Given the description of an element on the screen output the (x, y) to click on. 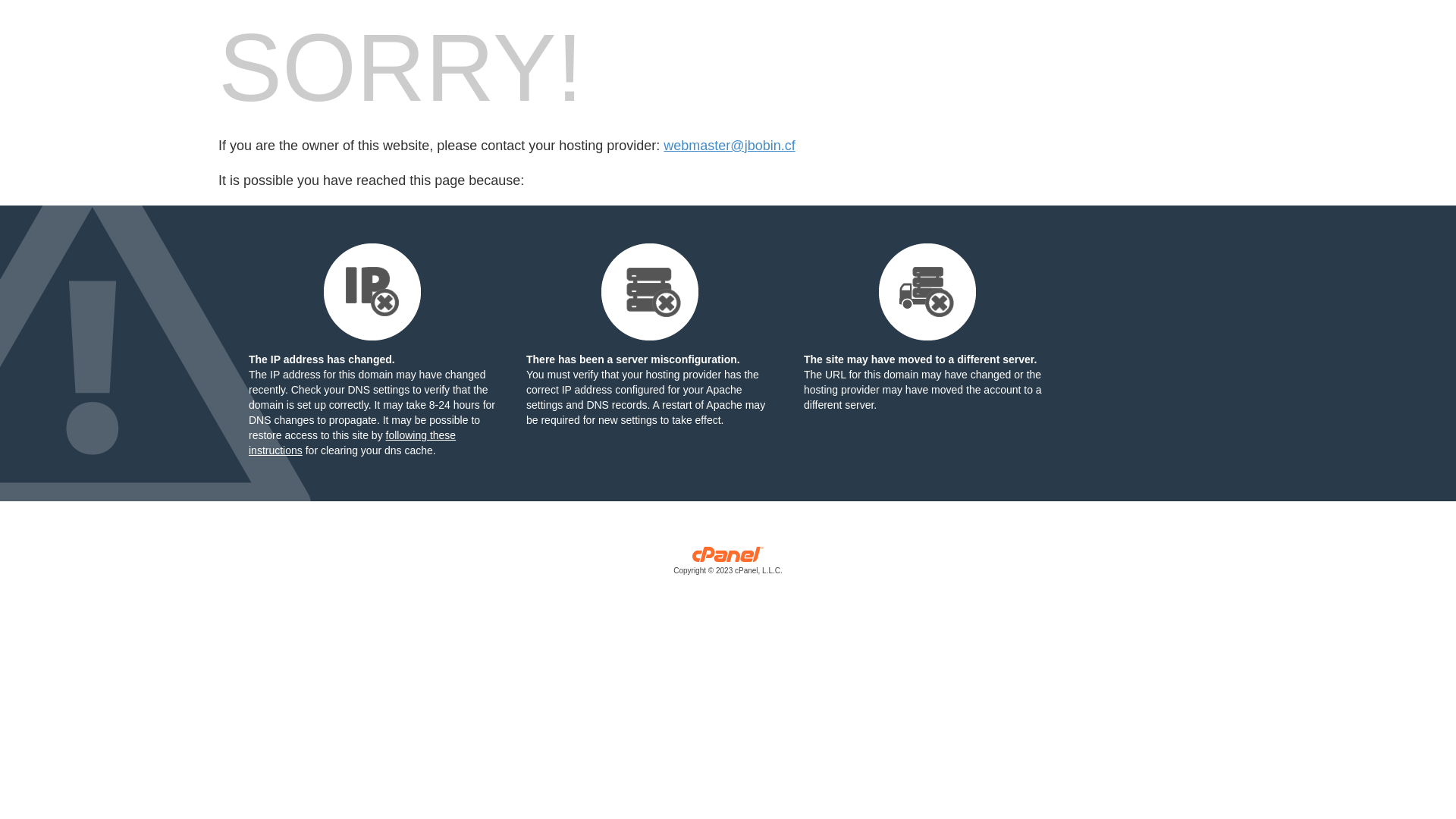
following these instructions Element type: text (351, 442)
webmaster@jbobin.cf Element type: text (728, 145)
